Given the description of an element on the screen output the (x, y) to click on. 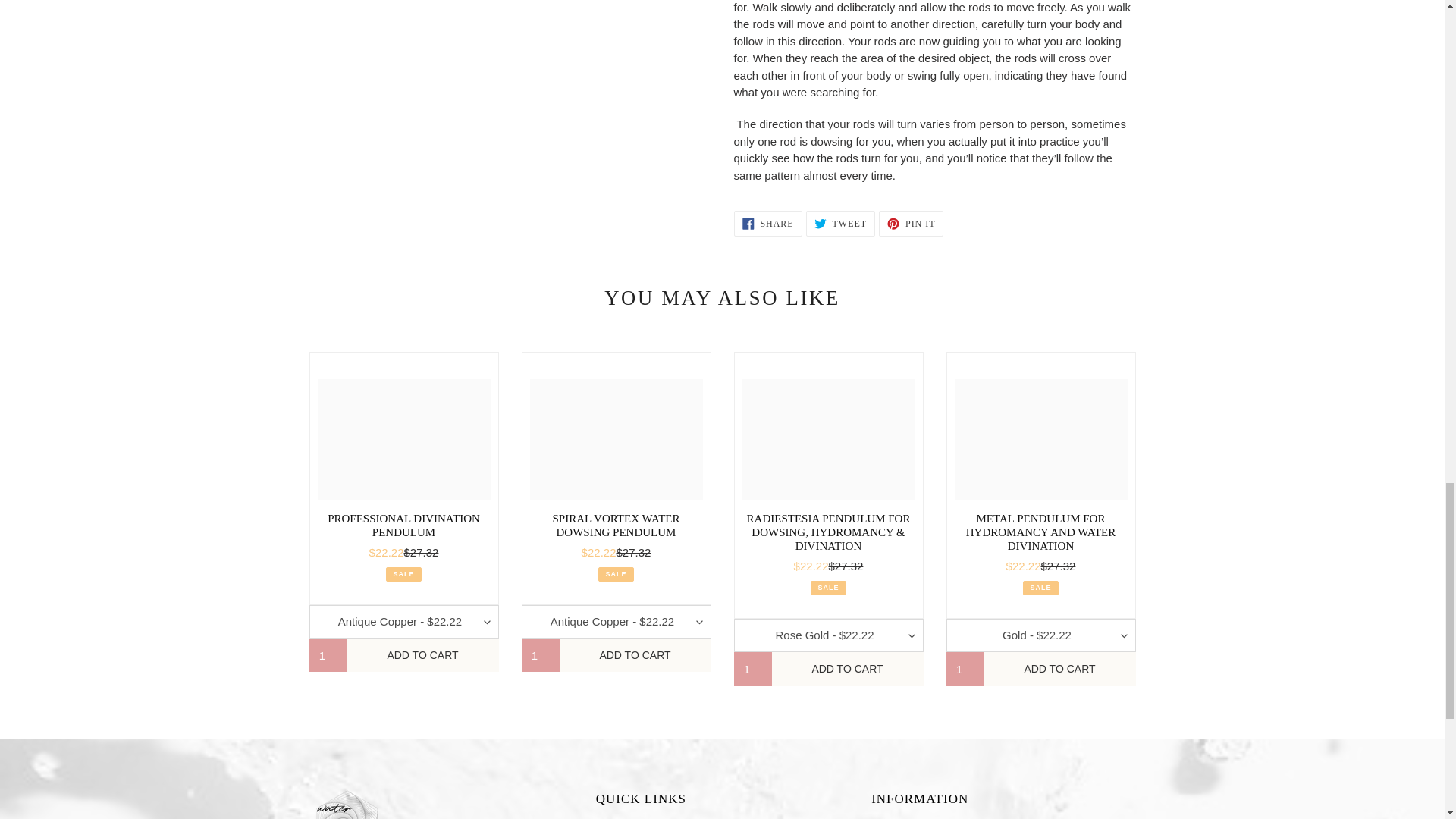
Add to cart (635, 654)
Add to cart (1059, 668)
1 (540, 654)
1 (327, 654)
1 (752, 668)
Add to cart (423, 654)
Add to cart (847, 668)
1 (965, 668)
